Given the description of an element on the screen output the (x, y) to click on. 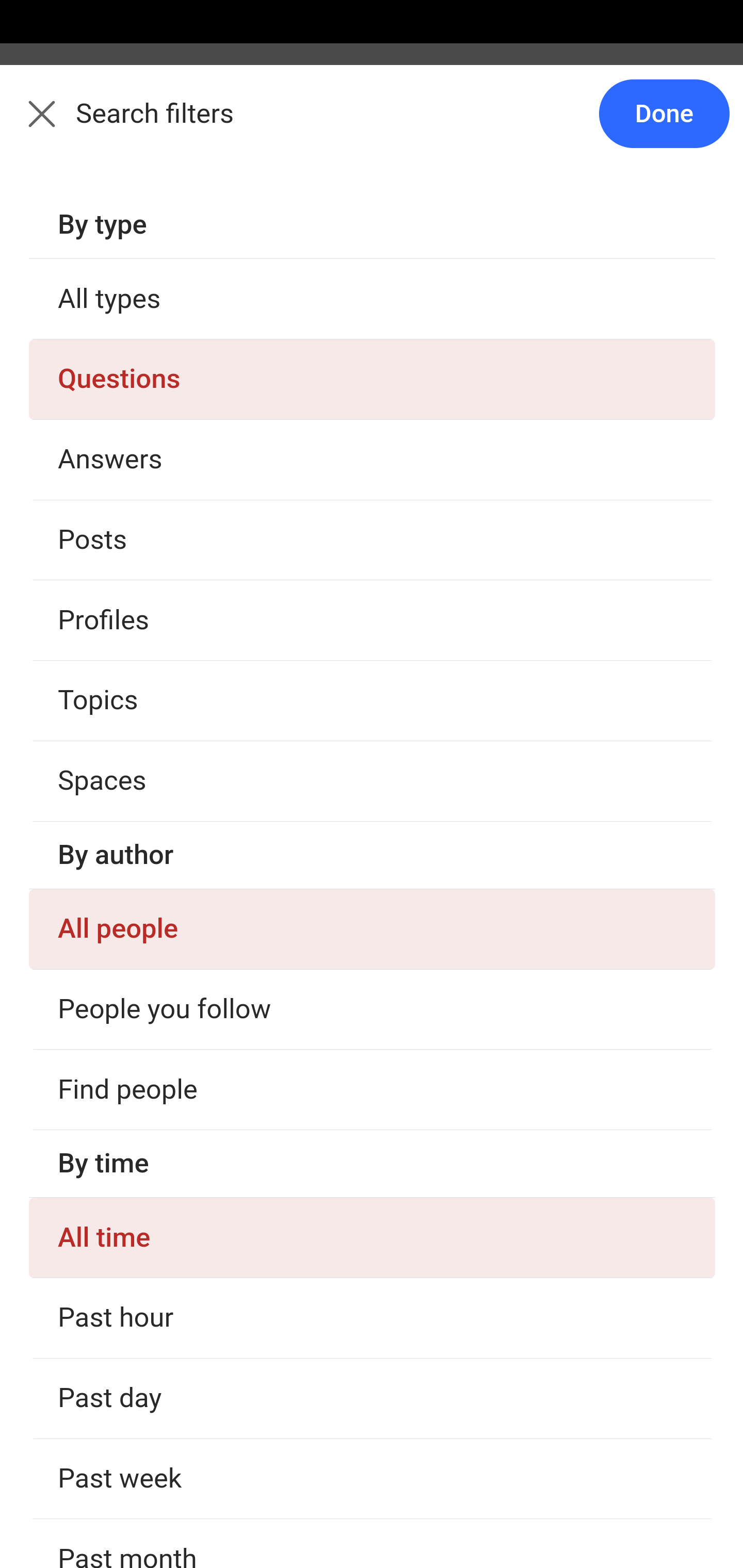
Back Search (371, 125)
1.7K answers 1.7K  answers (95, 458)
Answer (125, 516)
What are cryptocurrencies? (372, 608)
Answer (125, 713)
What is the best cryptocurrency exchange? (372, 805)
Answer (125, 912)
How can one invest in cryptocurrency? (372, 1004)
Answer (125, 1109)
Answer (125, 1308)
Why are cryptocurrencies dropping? (372, 1400)
